Given the description of an element on the screen output the (x, y) to click on. 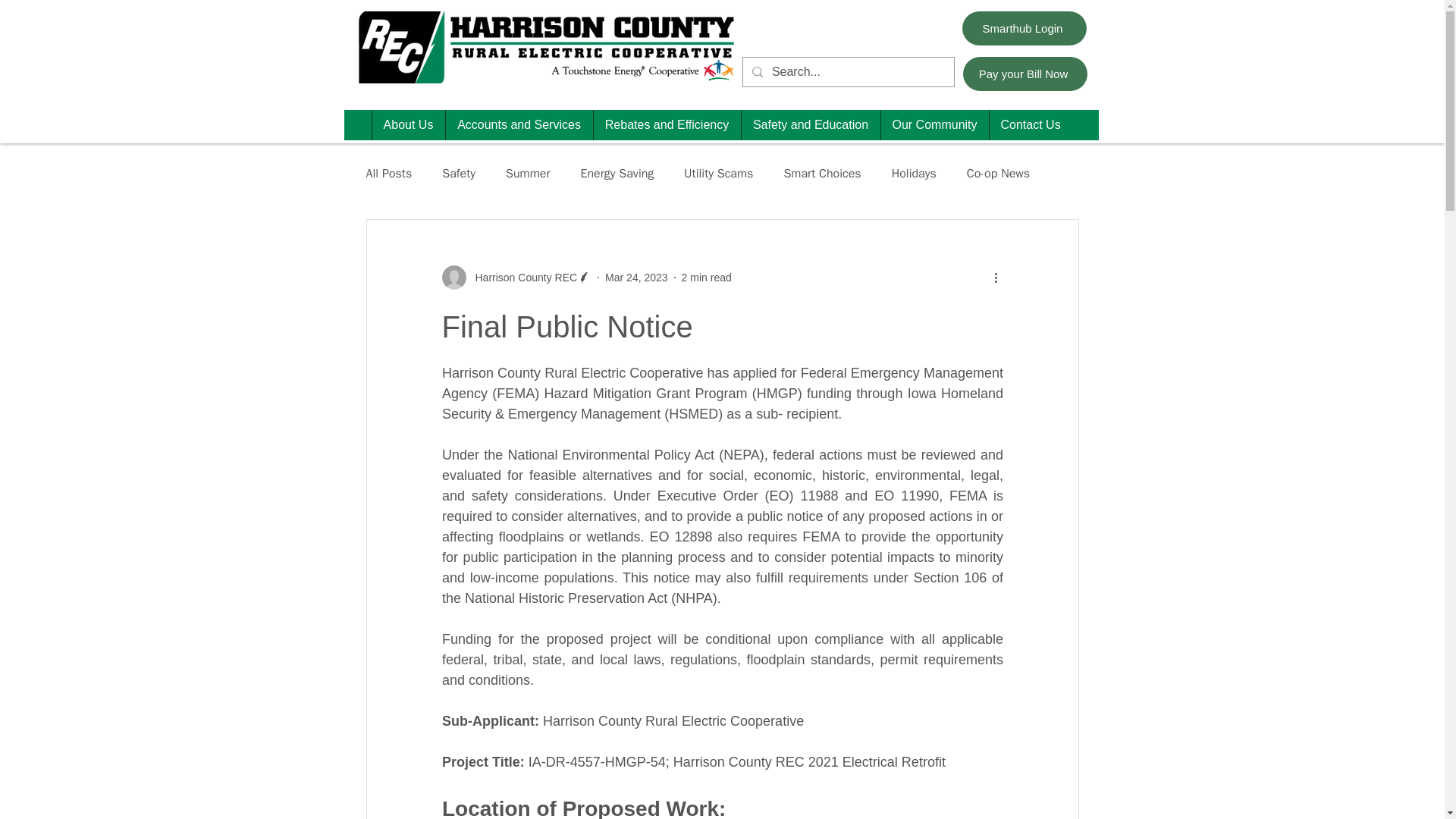
All Posts (388, 172)
Pay your Bill Now (1024, 73)
2 min read (706, 277)
Utility Scams (718, 172)
Contact Us (1029, 124)
Safety (459, 172)
Summer (527, 172)
Mar 24, 2023 (636, 277)
Harrison County REC (520, 277)
Smart Choices (821, 172)
Smarthub Login (1023, 28)
Energy Saving (616, 172)
